Given the description of an element on the screen output the (x, y) to click on. 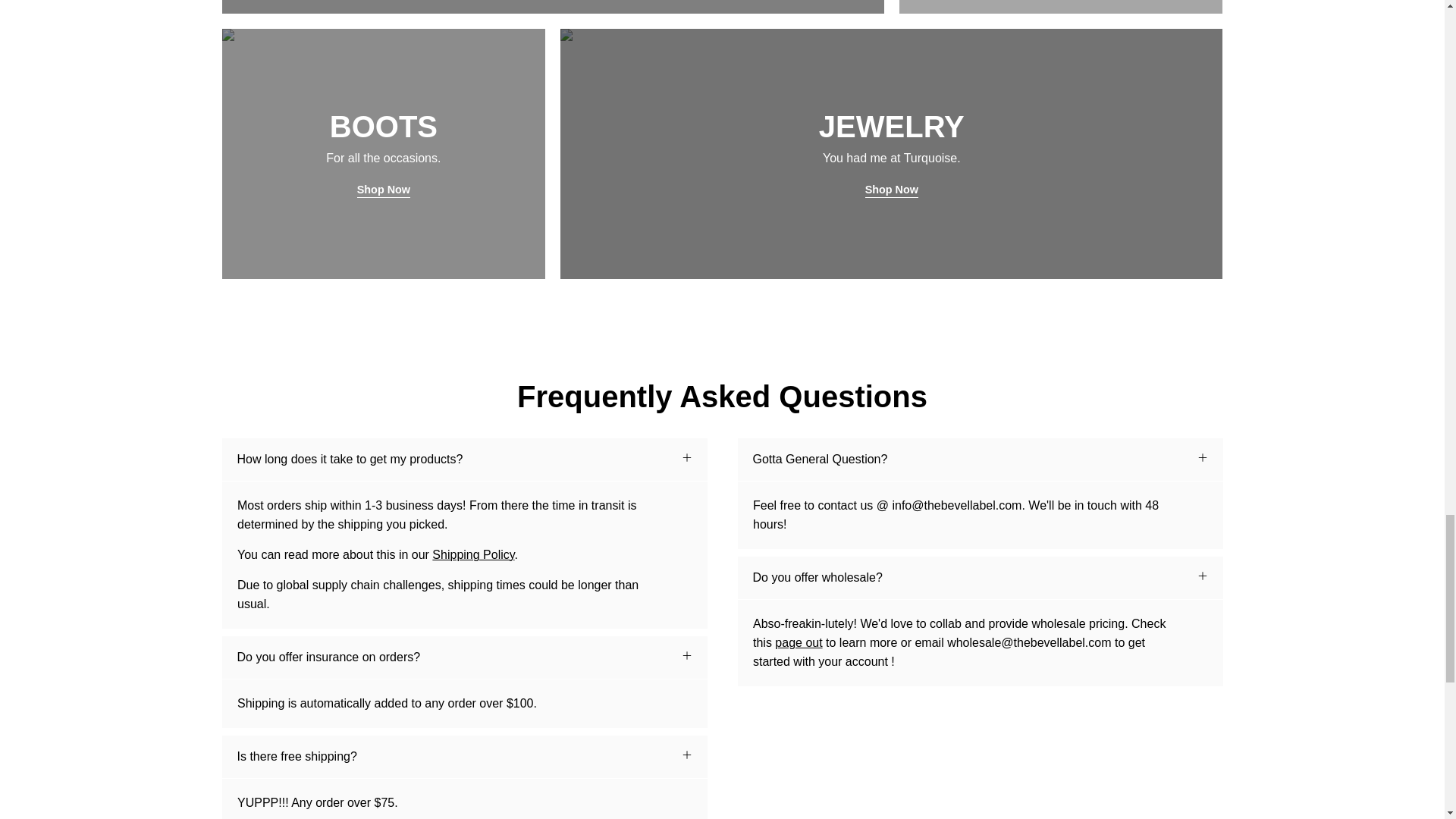
Wholesale (798, 642)
Shipping Policy (472, 554)
